Given the description of an element on the screen output the (x, y) to click on. 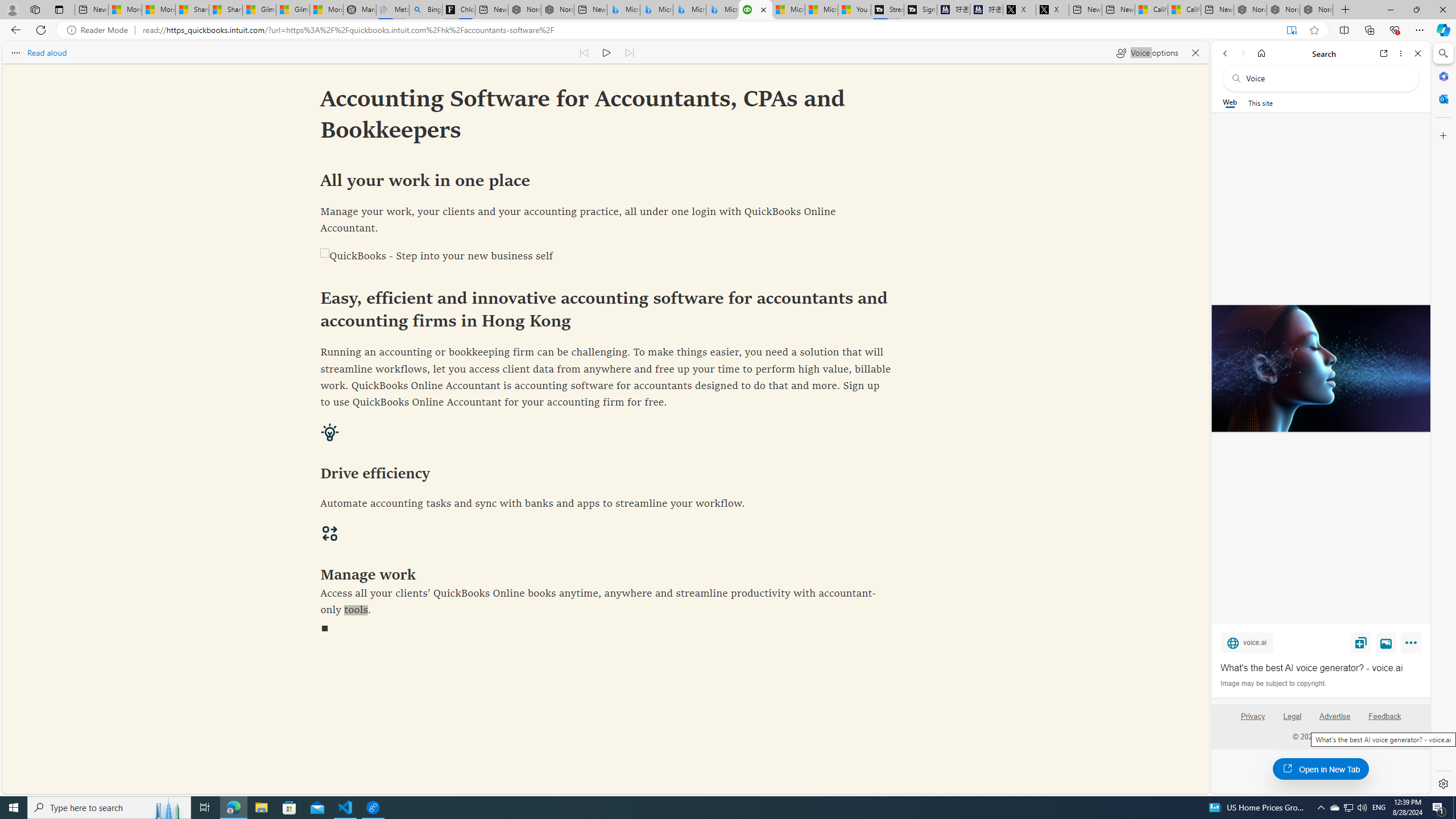
Exit Immersive Reader (F9) (1291, 29)
